Given the description of an element on the screen output the (x, y) to click on. 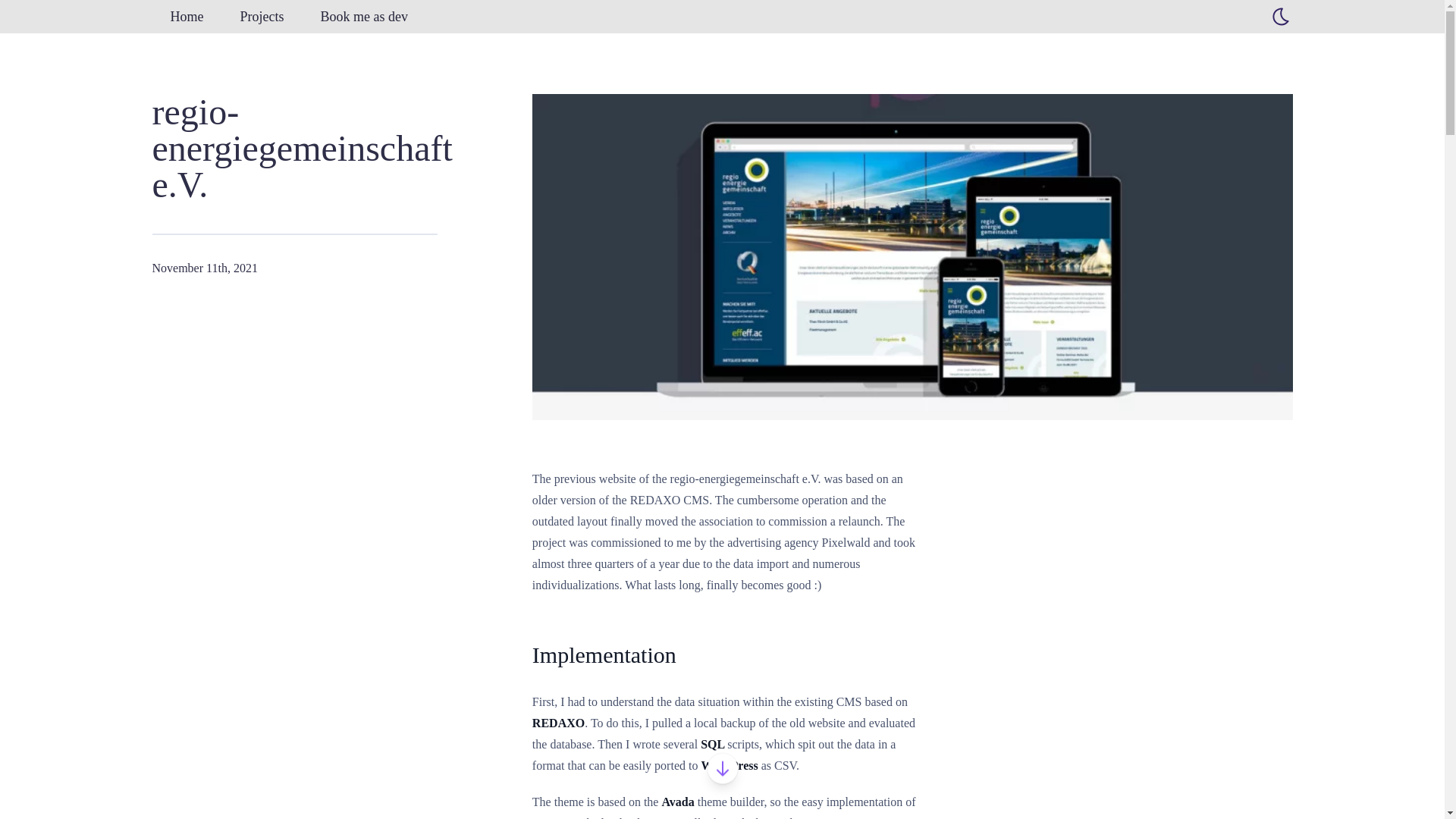
Projects (261, 16)
Home (186, 16)
Book me as dev (363, 16)
Home (186, 16)
Projects (261, 16)
Book me as dev (363, 16)
